Given the description of an element on the screen output the (x, y) to click on. 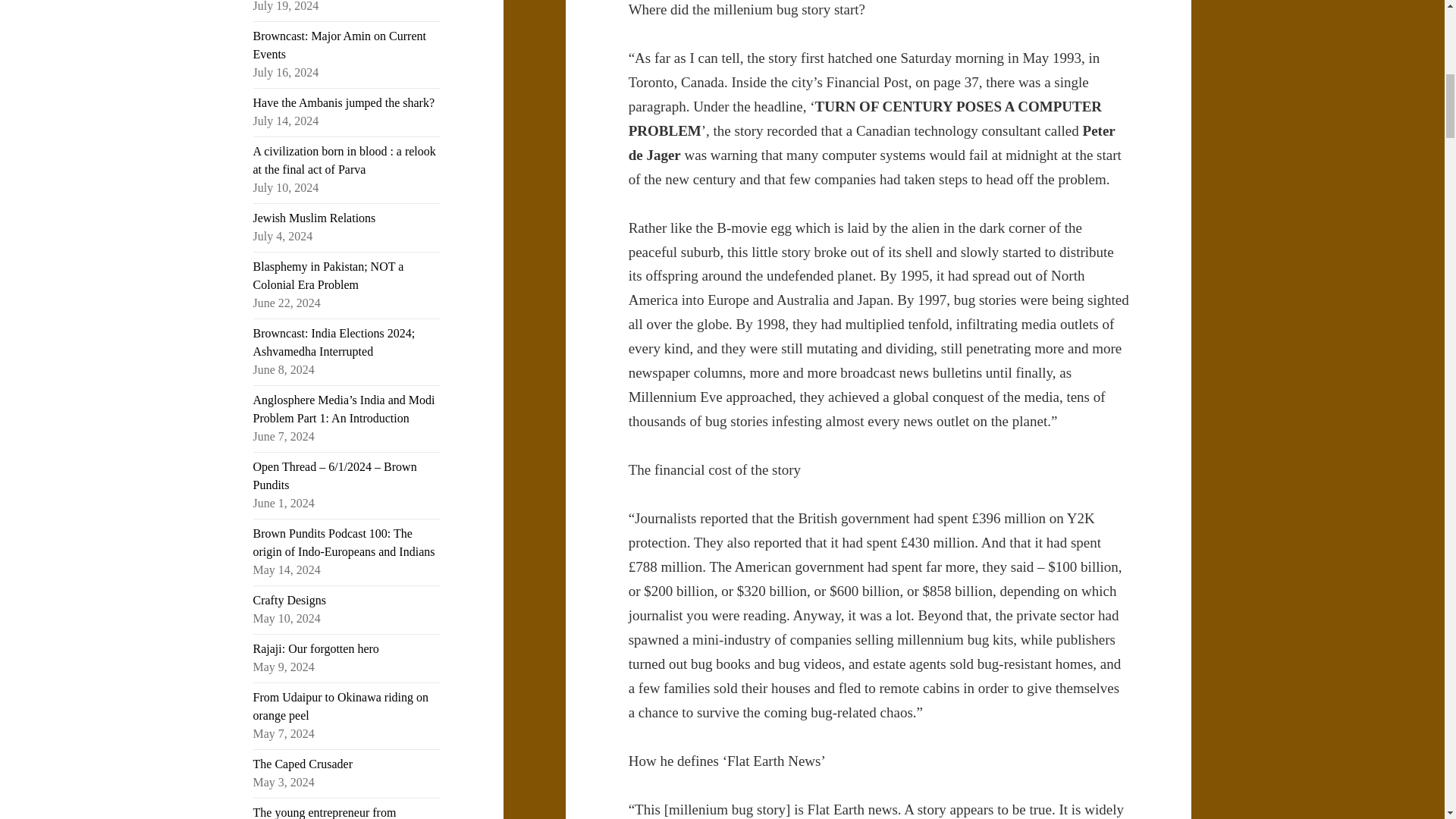
Blasphemy in Pakistan; NOT a Colonial Era Problem (328, 275)
Browncast: India Elections 2024; Ashvamedha Interrupted (333, 341)
Jewish Muslim Relations (314, 217)
Rajaji: Our forgotten hero (315, 648)
Browncast: Major Amin on Current Events (339, 44)
Have the Ambanis jumped the shark? (344, 102)
Crafty Designs (289, 599)
